Given the description of an element on the screen output the (x, y) to click on. 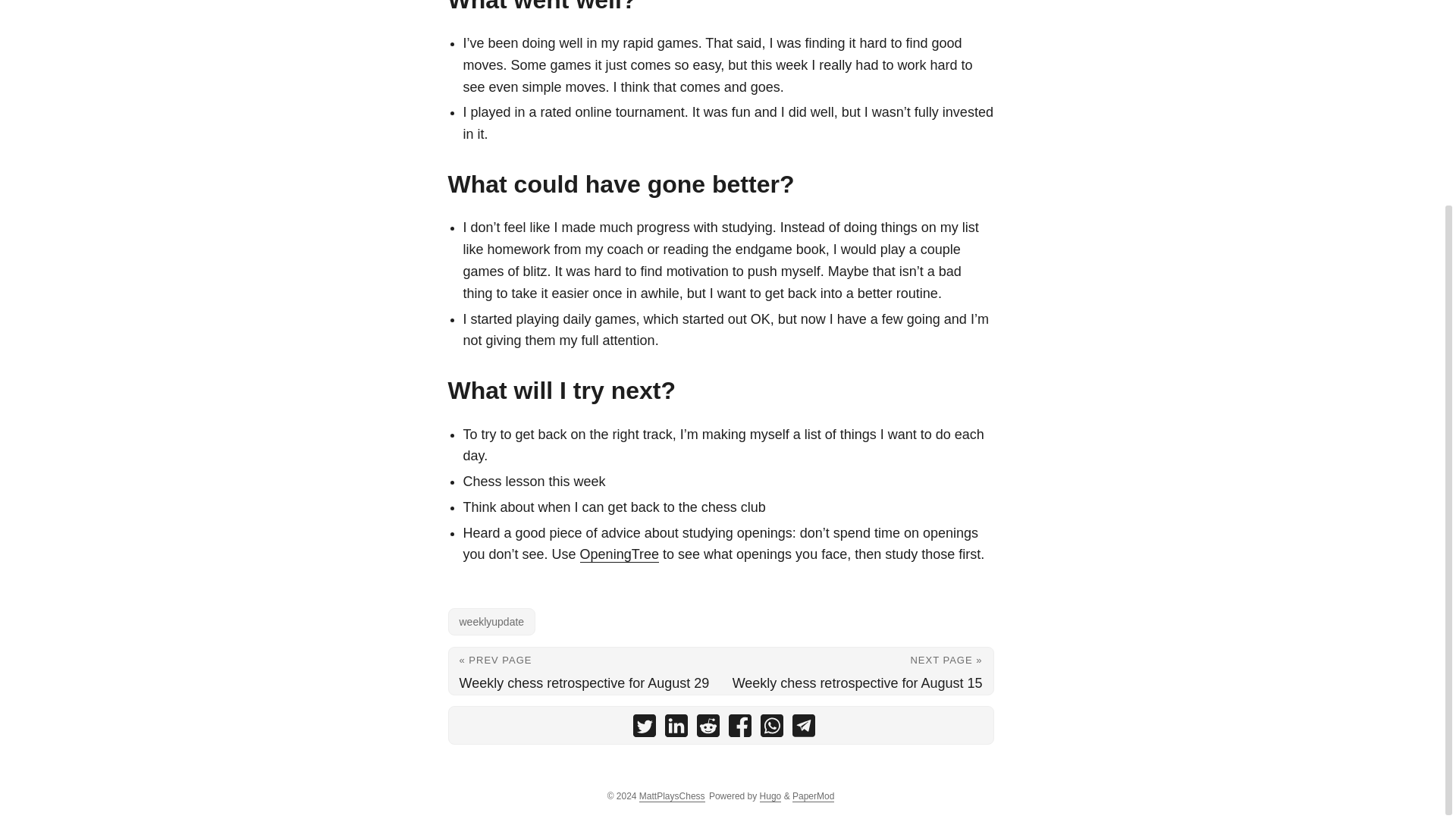
Hugo (770, 796)
PaperMod (813, 796)
OpeningTree (619, 554)
MattPlaysChess (671, 796)
weeklyupdate (490, 621)
